Given the description of an element on the screen output the (x, y) to click on. 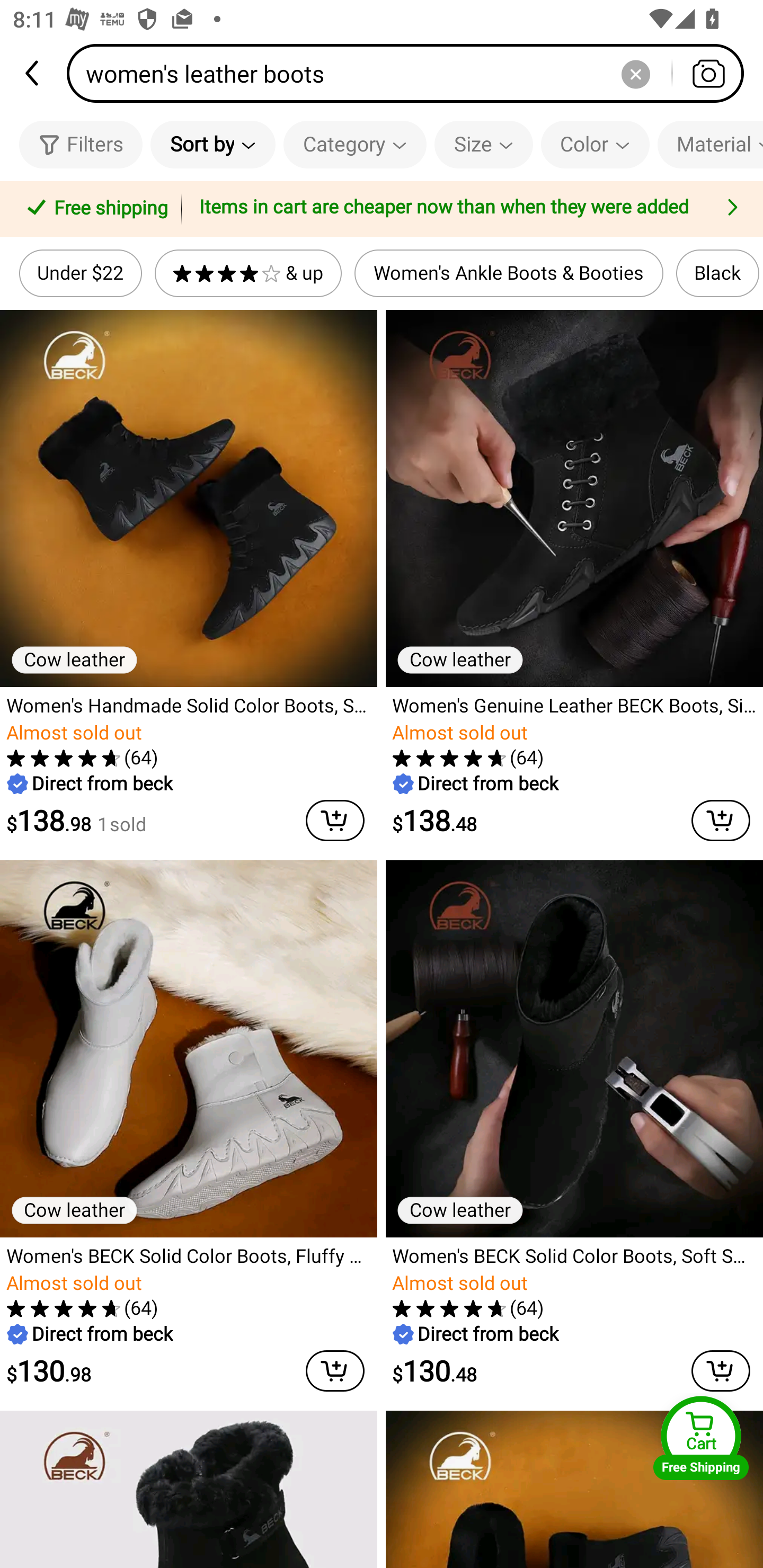
back (33, 72)
women's leather boots (411, 73)
Delete search history (635, 73)
Search by photo (708, 73)
Filters (80, 143)
Sort by (212, 143)
Category (354, 143)
Size (483, 143)
Color (594, 143)
Material (710, 143)
 Free shipping (93, 208)
Under $22 (80, 273)
& up (247, 273)
Women's Ankle Boots & Booties (508, 273)
Black (717, 273)
Cart Free Shipping Cart (701, 1437)
